Given the description of an element on the screen output the (x, y) to click on. 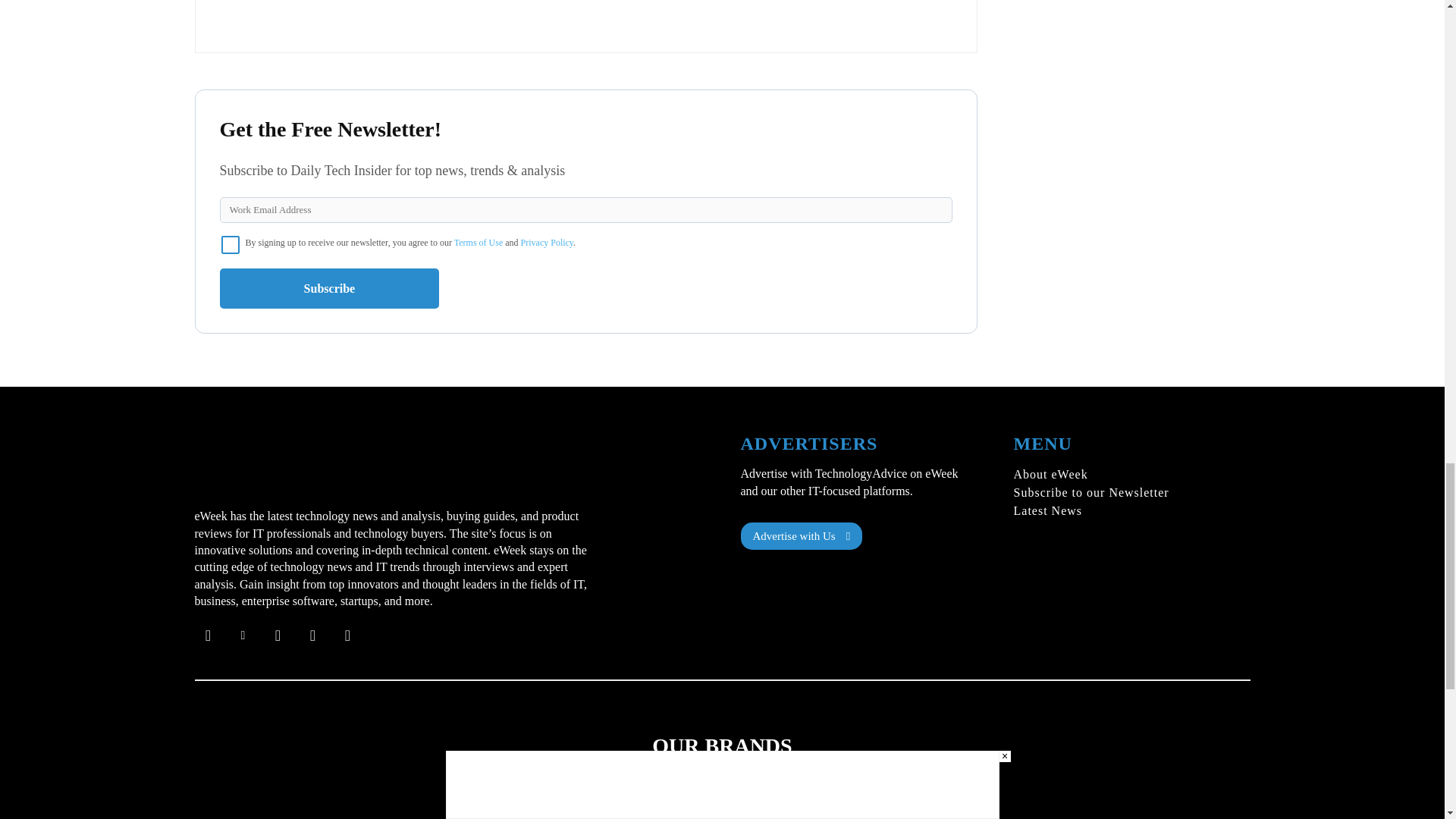
on (230, 244)
